Given the description of an element on the screen output the (x, y) to click on. 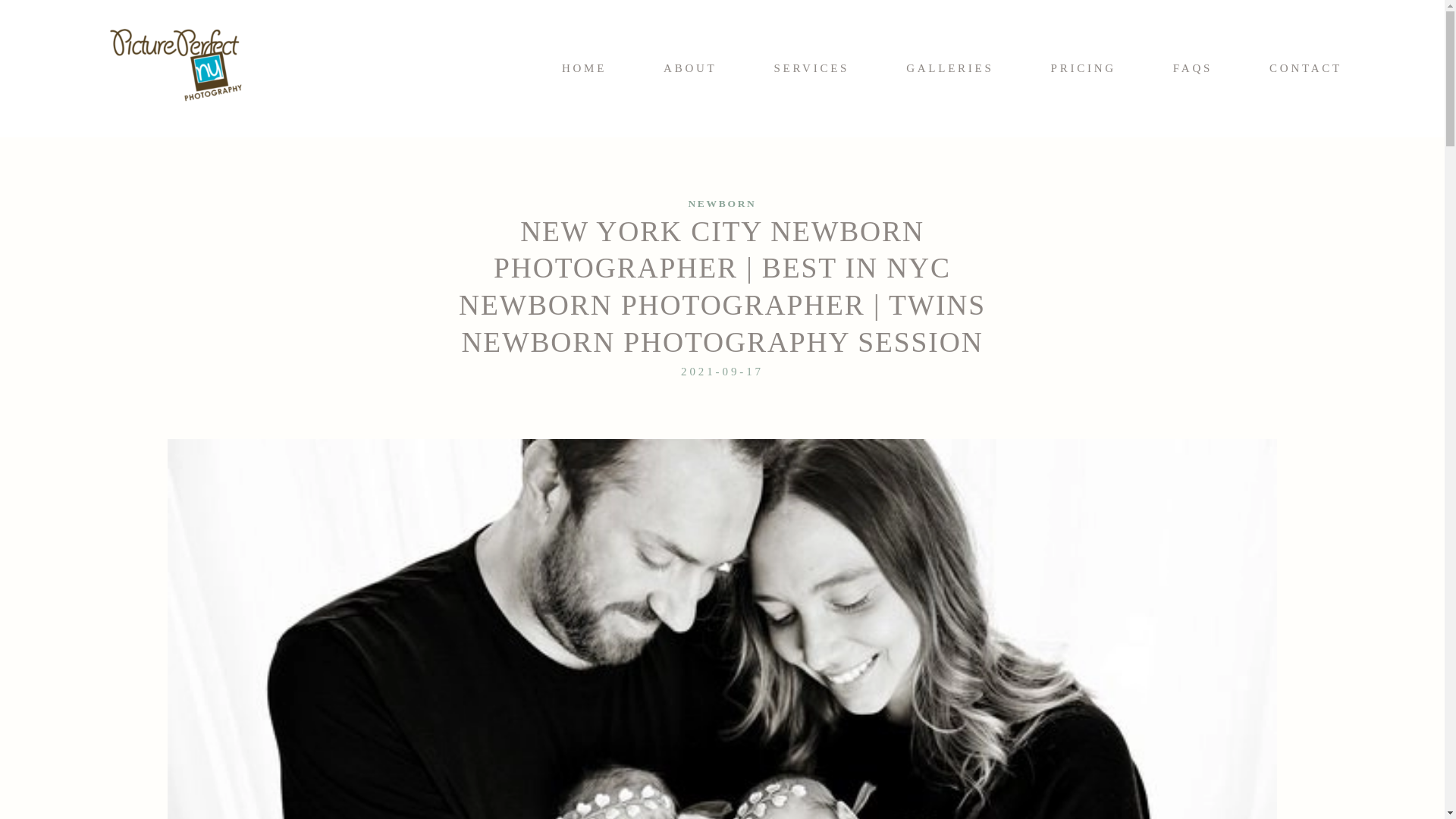
ABOUT (689, 68)
PRICING (1083, 68)
GALLERIES (948, 68)
SERVICES (812, 68)
HOME (584, 68)
CONTACT (1305, 68)
FAQS (1192, 68)
